Given the description of an element on the screen output the (x, y) to click on. 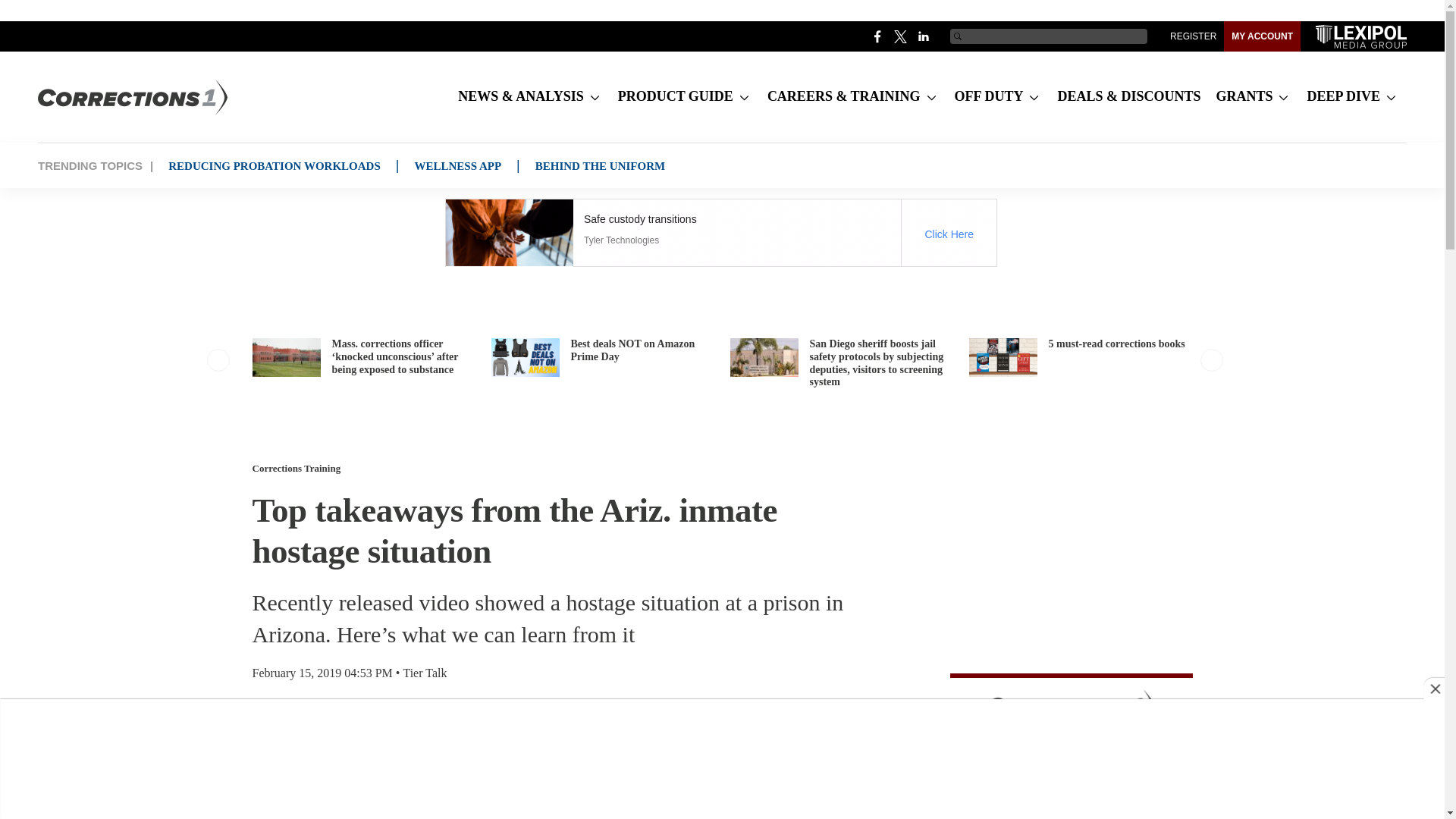
REGISTER (1192, 36)
3rd party ad content (1068, 567)
3rd party ad content (719, 774)
twitter (900, 36)
linkedin (923, 36)
piano-id-x2e5s (1070, 746)
3rd party ad content (719, 232)
MY ACCOUNT (1262, 36)
facebook (877, 36)
